Given the description of an element on the screen output the (x, y) to click on. 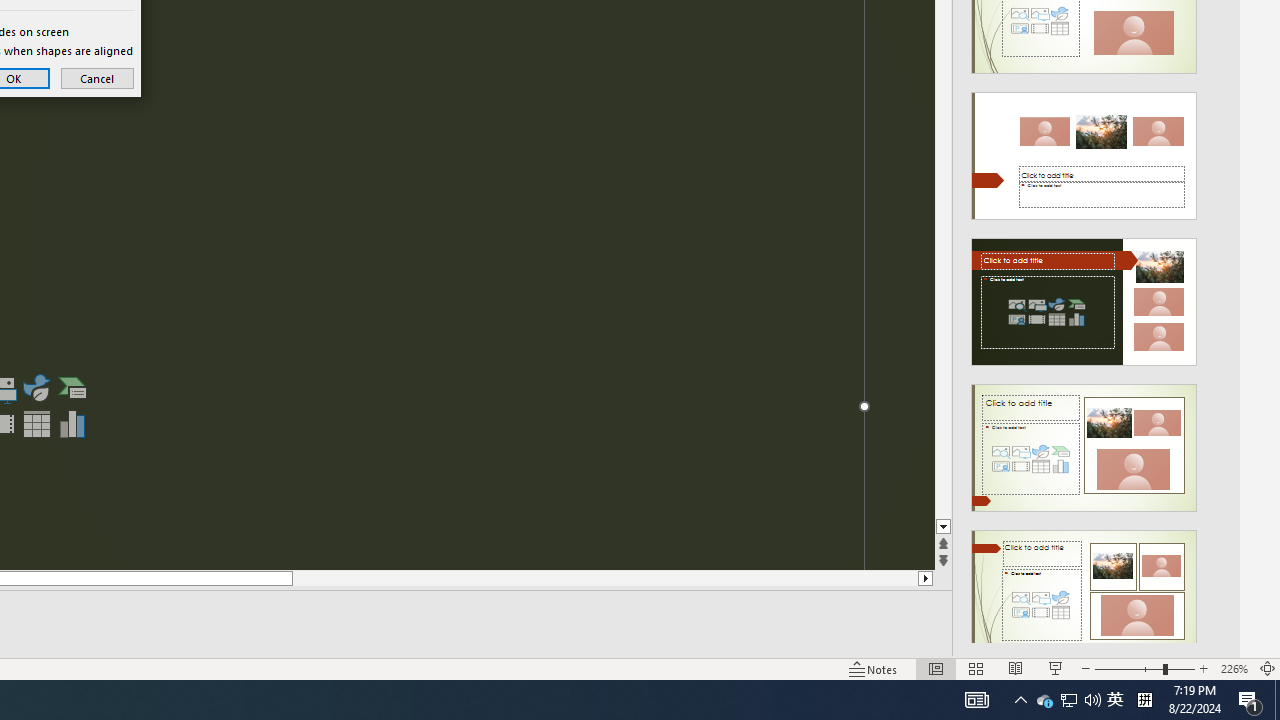
Insert an Icon (36, 387)
Insert a SmartArt Graphic (73, 387)
Action Center, 1 new notification (1250, 699)
Cancel (1044, 699)
